Given the description of an element on the screen output the (x, y) to click on. 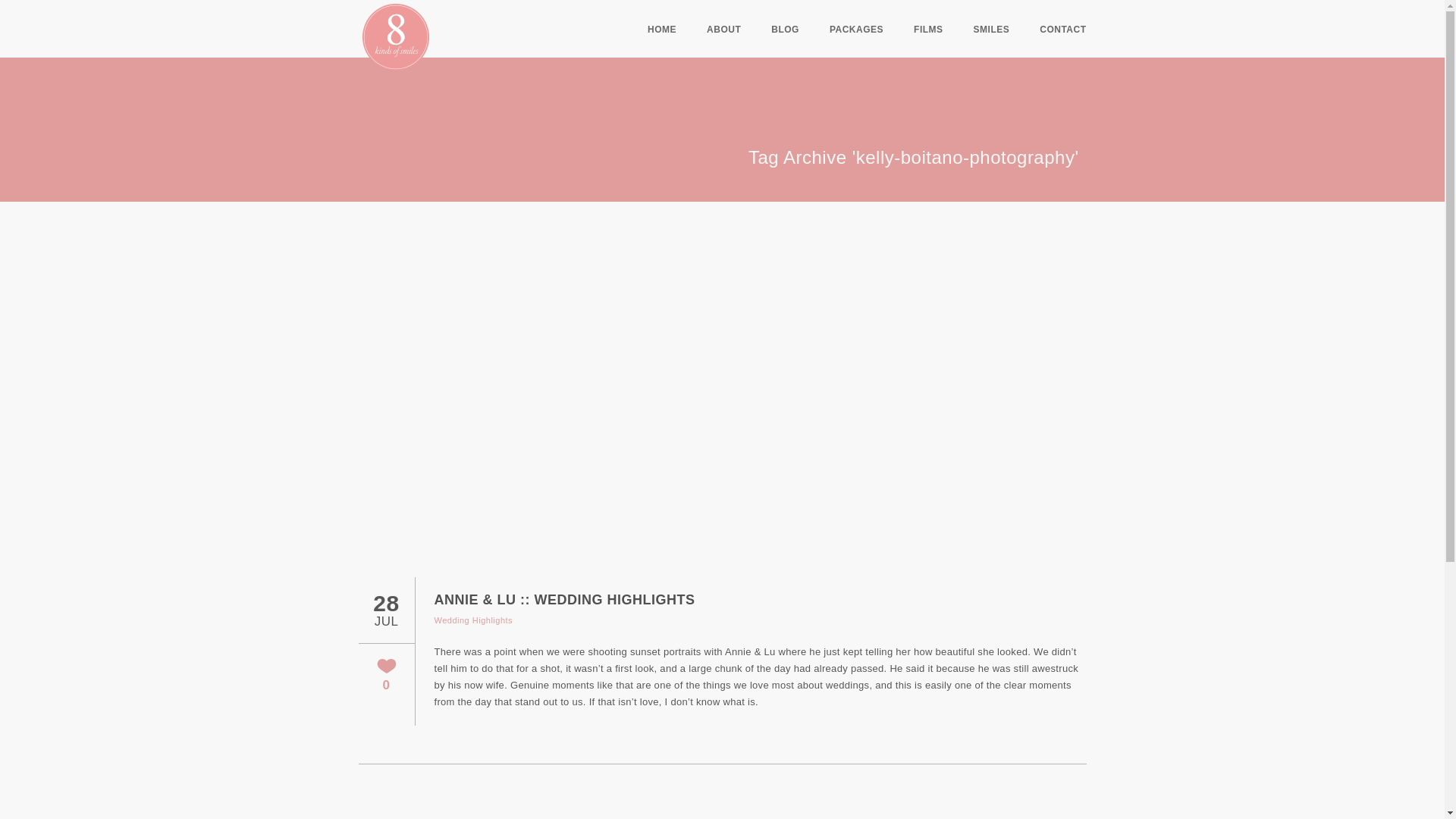
SMILES (992, 29)
CONTACT (1062, 29)
HOME (662, 29)
PACKAGES (856, 29)
0 (385, 675)
BLOG (785, 29)
ABOUT (723, 29)
FILMS (928, 29)
Wedding Highlights (472, 619)
